Given the description of an element on the screen output the (x, y) to click on. 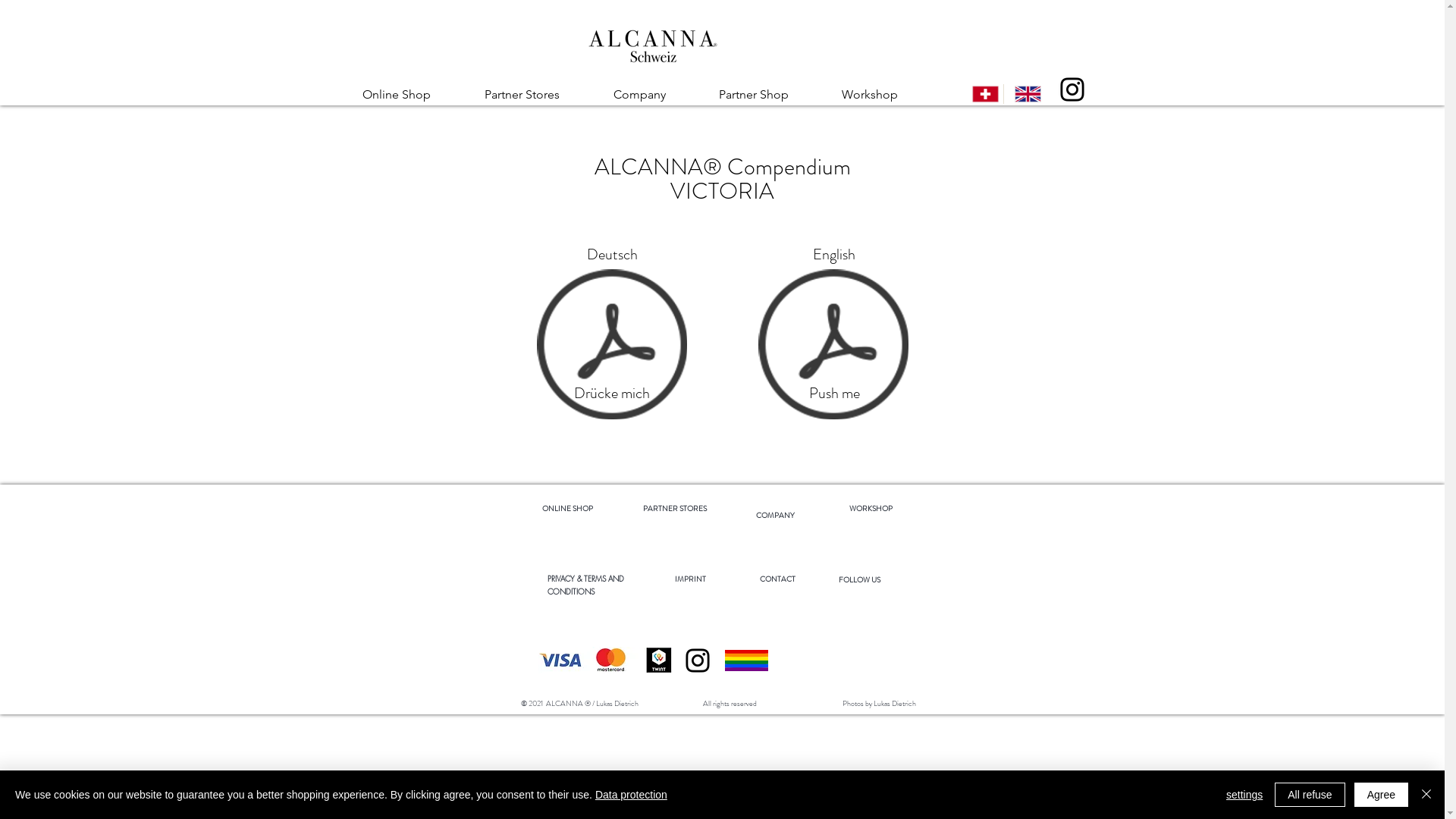
Partner Stores Element type: text (537, 94)
CONTACT  Element type: text (778, 578)
PRIVACY & TERMS AND CONDITIONS Element type: text (585, 584)
Online Shop Element type: text (411, 94)
Victoria Compendium ENG.pdf Element type: hover (832, 346)
PARTNER STORES Element type: text (674, 508)
Workshop Element type: text (883, 94)
COMPANY Element type: text (774, 513)
Partner Shop Element type: text (767, 94)
FOLLOW US Element type: text (859, 579)
WORKSHOP  Element type: text (871, 508)
Data protection Element type: text (631, 794)
IMPRINT Element type: text (690, 578)
ONLINE SHOP Element type: text (566, 508)
All refuse Element type: text (1309, 794)
Agree Element type: text (1381, 794)
Company Element type: text (654, 94)
Victoria Compendium .pdf Element type: hover (612, 346)
